Given the description of an element on the screen output the (x, y) to click on. 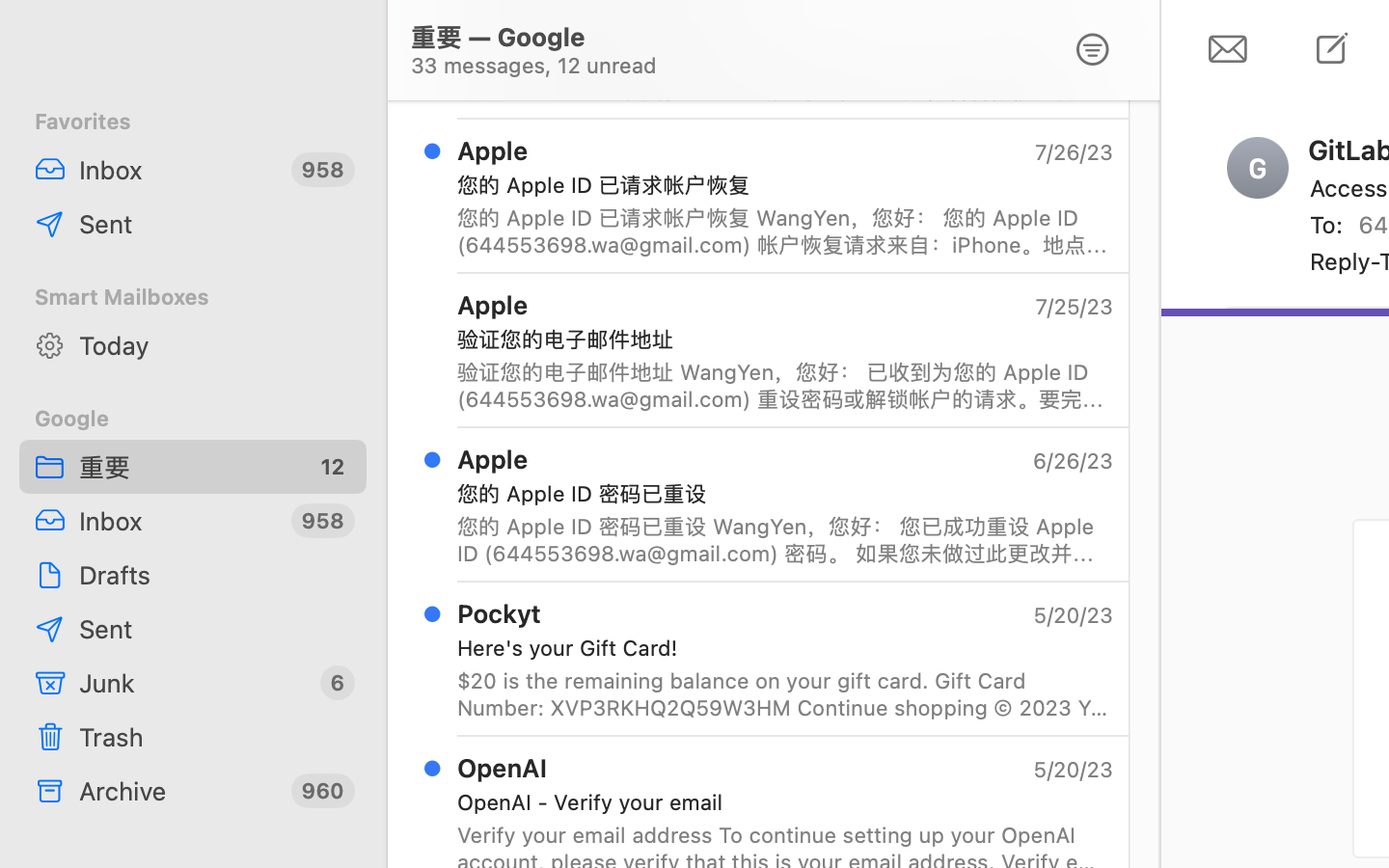
7/26/23 Element type: AXStaticText (1072, 151)
Apple Element type: AXStaticText (492, 150)
OpenAI - Verify your email Element type: AXStaticText (777, 801)
您的 Apple ID 已请求帐户恢复 WangYen，您好： 您的 Apple ID (644553698.wa@gmail.com) 帐户恢复请求来自：iPhone。地点大概位置：Tianjin, TJ。提出时间：2023年7月25日下午12:16:33 GMT+8。提供的联系电话号码：+86 159 0032 4640。 当您的帐户于2023年8月8日下午12:16:33 GMT+8 准备好进行恢复时，此电话号码将会收到短信或语音来电。有关帐户的最新状态，或者您想提供更多信息以帮助帐户恢复，请访问 https://iforgot.apple.com 如果您没有提出此请求，或者对上述信息不知情，您需要立即取消帐户恢复以保证帐户安全。 此致 Apple 支持 Apple ID | 支持 | 隐私政策 Copyright © 2023 One Apple Park Way, Cupertino, CA 95014, United States‎ 保留所有权利。 Element type: AXStaticText (784, 231)
重要 Element type: AXTextField (187, 466)
